Given the description of an element on the screen output the (x, y) to click on. 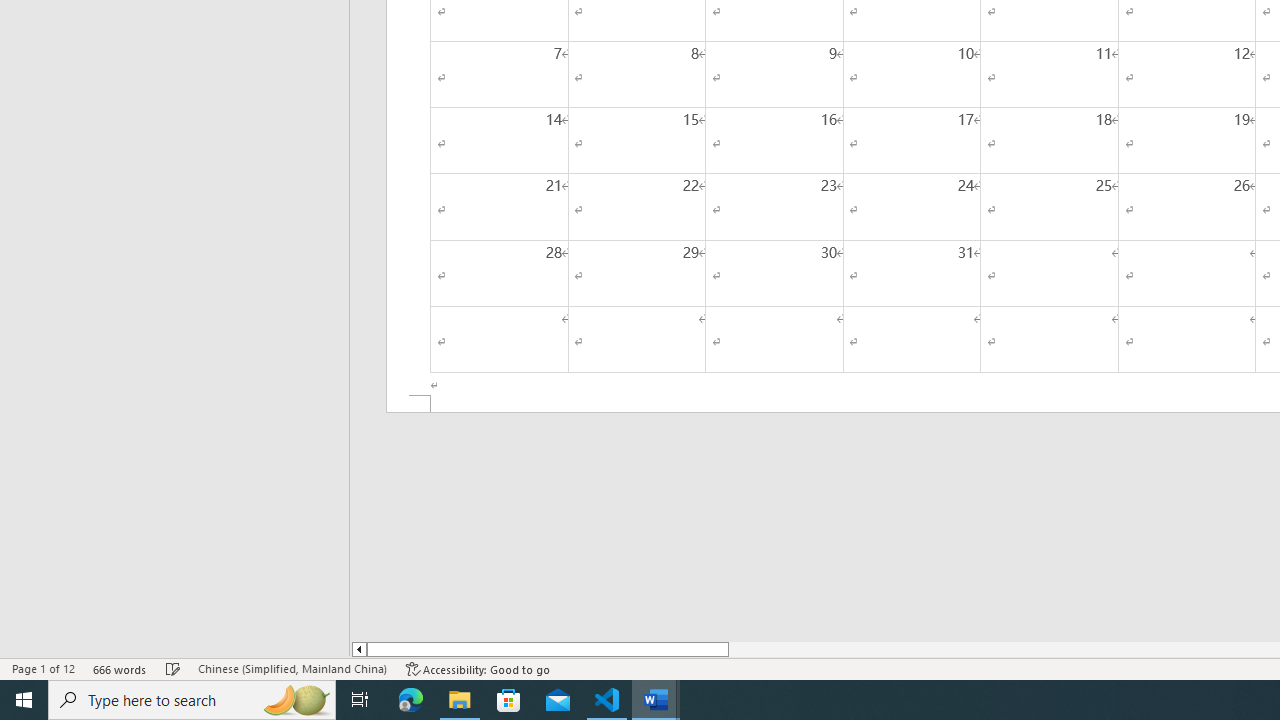
Spelling and Grammar Check Checking (173, 668)
Language Chinese (Simplified, Mainland China) (292, 668)
Column left (358, 649)
Accessibility Checker Accessibility: Good to go (478, 668)
Word Count 666 words (119, 668)
Page Number Page 1 of 12 (43, 668)
